Given the description of an element on the screen output the (x, y) to click on. 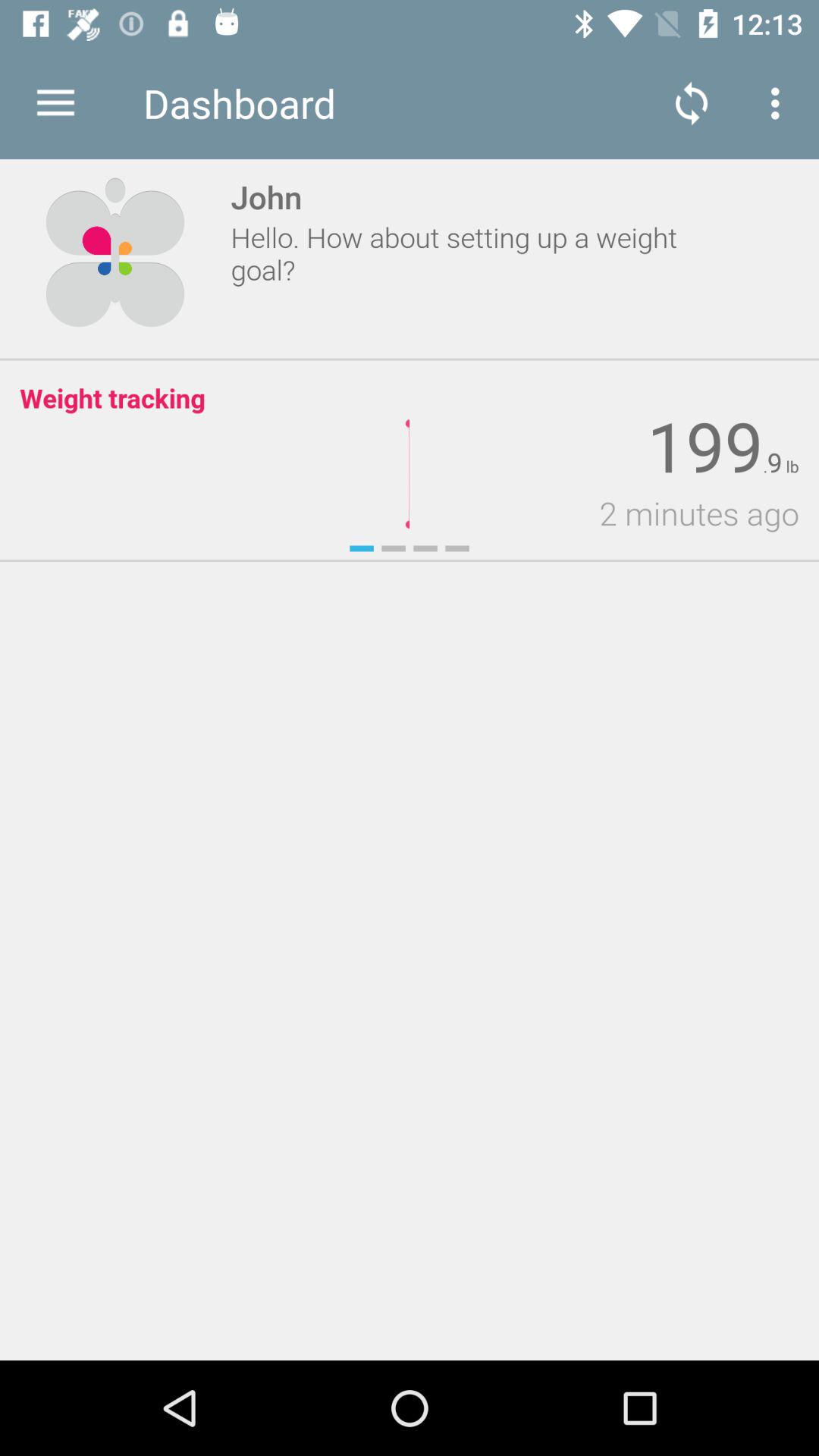
jump until 9 icon (774, 462)
